Given the description of an element on the screen output the (x, y) to click on. 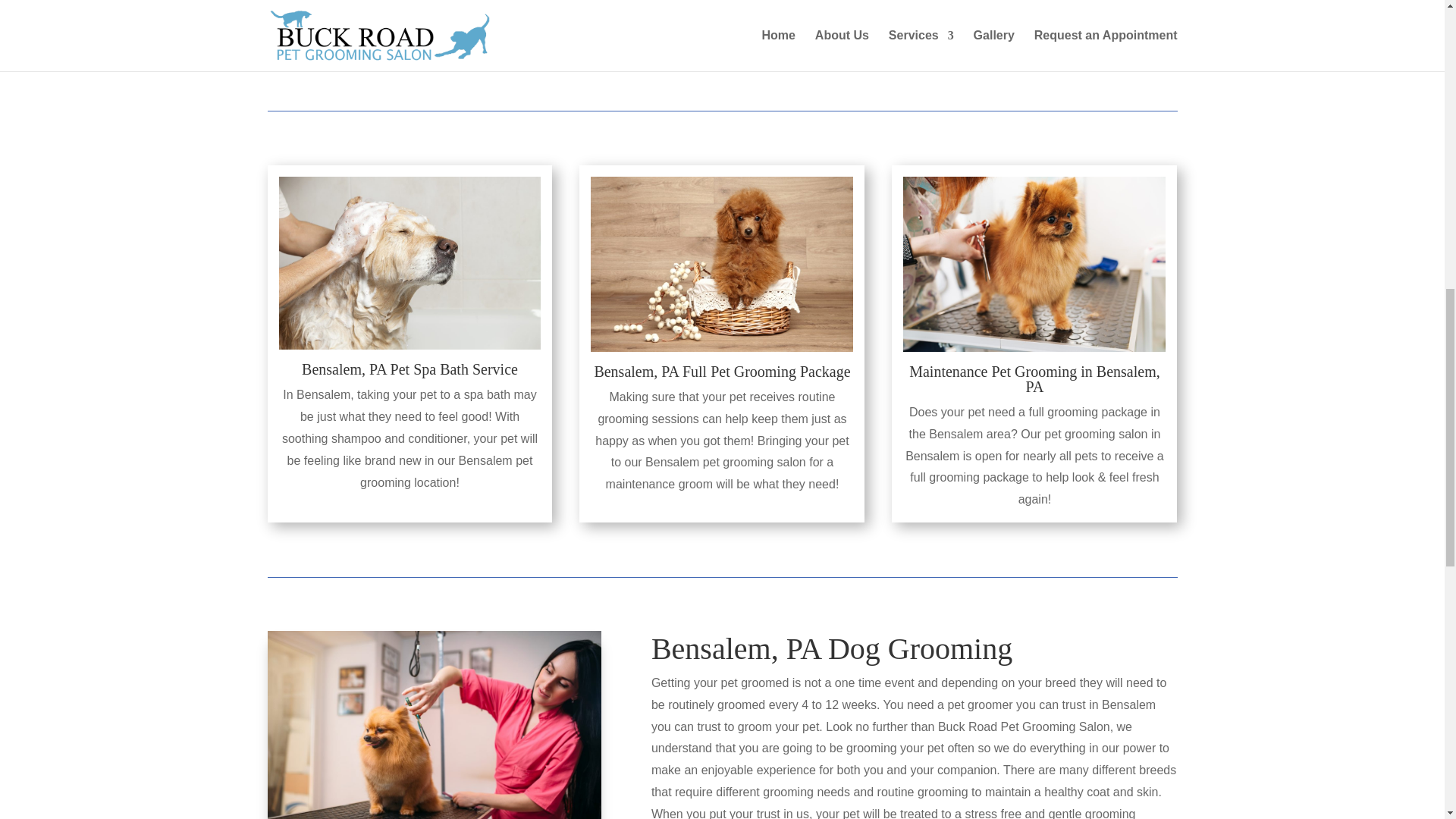
Dog Groomer in Bensalem, PA (432, 724)
Bensalem, PA Pet Grooming Services (432, 22)
Maintenance Pet Grooming (992, 371)
Pet Grooming and Spa Bath Services in Bensalem, PA (410, 262)
Maintenance Dog Grooming Services in Bensalem, PA (1034, 264)
Pet Spa Bath Service (454, 369)
Full Dog Grooming Service in Bensalem, PA (722, 264)
Full Pet Grooming Package (766, 371)
Bensalem, PA Full Pet Grooming Package (766, 371)
